Given the description of an element on the screen output the (x, y) to click on. 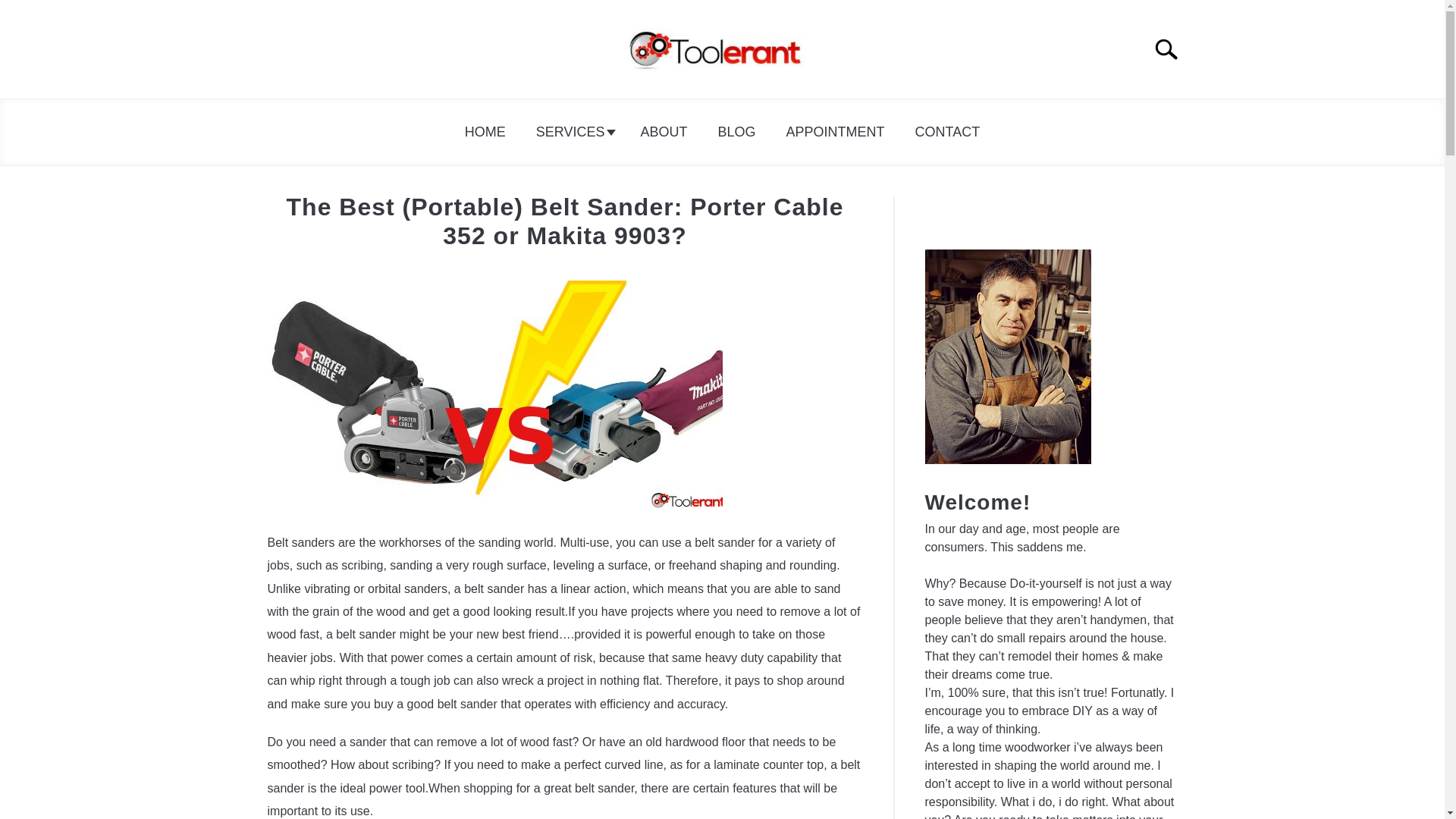
ABOUT (662, 131)
Search (1172, 49)
HOME (485, 131)
SERVICES (573, 131)
APPOINTMENT (835, 131)
CONTACT (947, 131)
BLOG (735, 131)
